Given the description of an element on the screen output the (x, y) to click on. 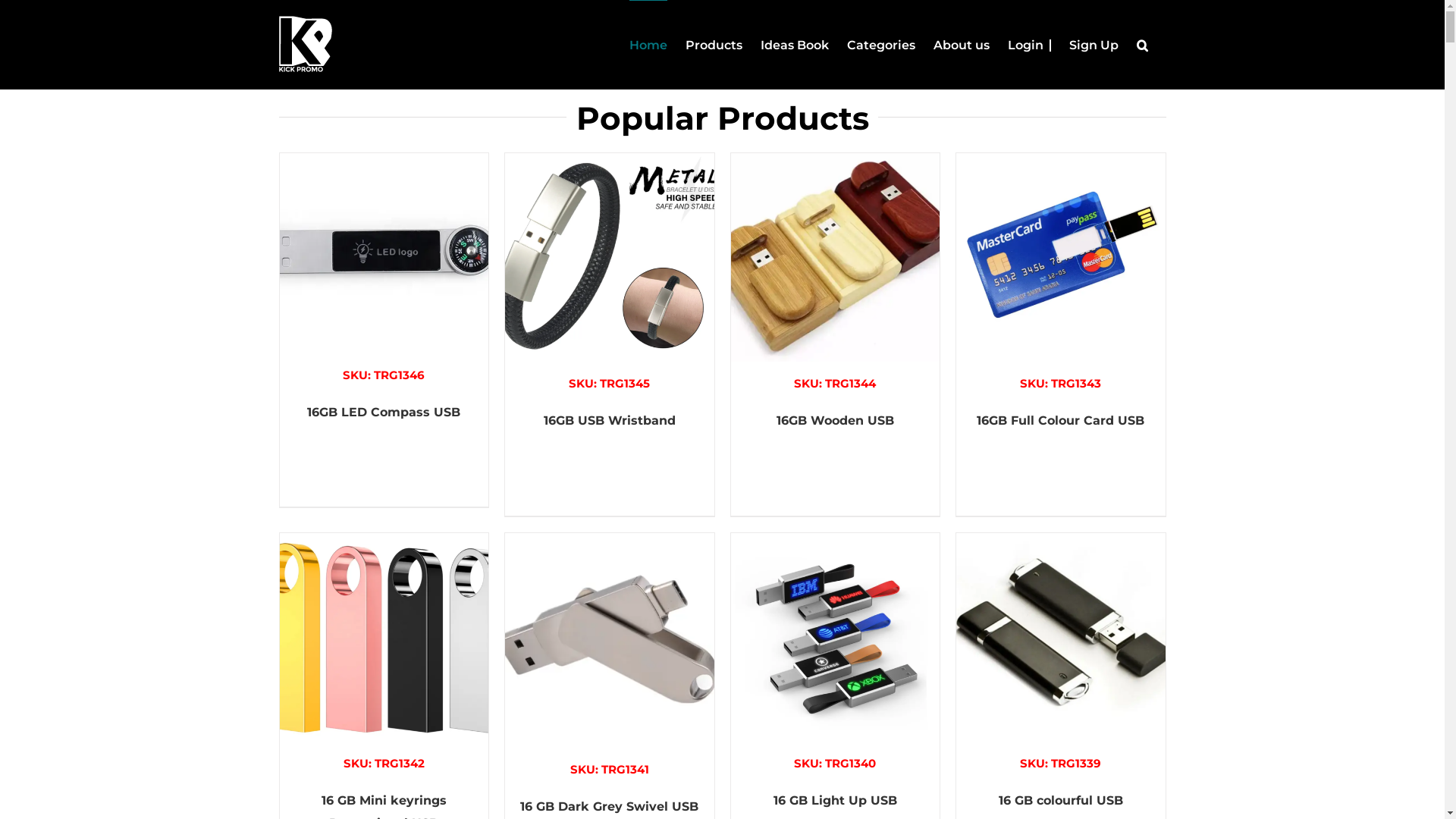
Search Element type: hover (1141, 44)
SKU: TRG1346 Element type: text (383, 269)
Home Element type: text (648, 44)
SKU: TRG1339 Element type: text (1060, 654)
About us Element type: text (960, 44)
SKU: TRG1343 Element type: text (1060, 274)
Categories Element type: text (880, 44)
16GB USB Wristband Element type: text (609, 420)
Login Element type: text (1028, 44)
SKU: TRG1342 Element type: text (383, 654)
16 GB Dark Grey Swivel USB Element type: text (609, 806)
SKU: TRG1341 Element type: text (609, 656)
16GB LED Compass USB Element type: text (383, 411)
Products Element type: text (713, 44)
16 GB Light Up USB Element type: text (835, 800)
16GB Wooden USB Element type: text (835, 420)
Ideas Book Element type: text (793, 44)
SKU: TRG1345 Element type: text (609, 274)
16 GB colourful USB Element type: text (1060, 800)
Sign Up Element type: text (1093, 44)
SKU: TRG1340 Element type: text (835, 654)
SKU: TRG1344 Element type: text (835, 274)
16GB Full Colour Card USB Element type: text (1060, 420)
